Given the description of an element on the screen output the (x, y) to click on. 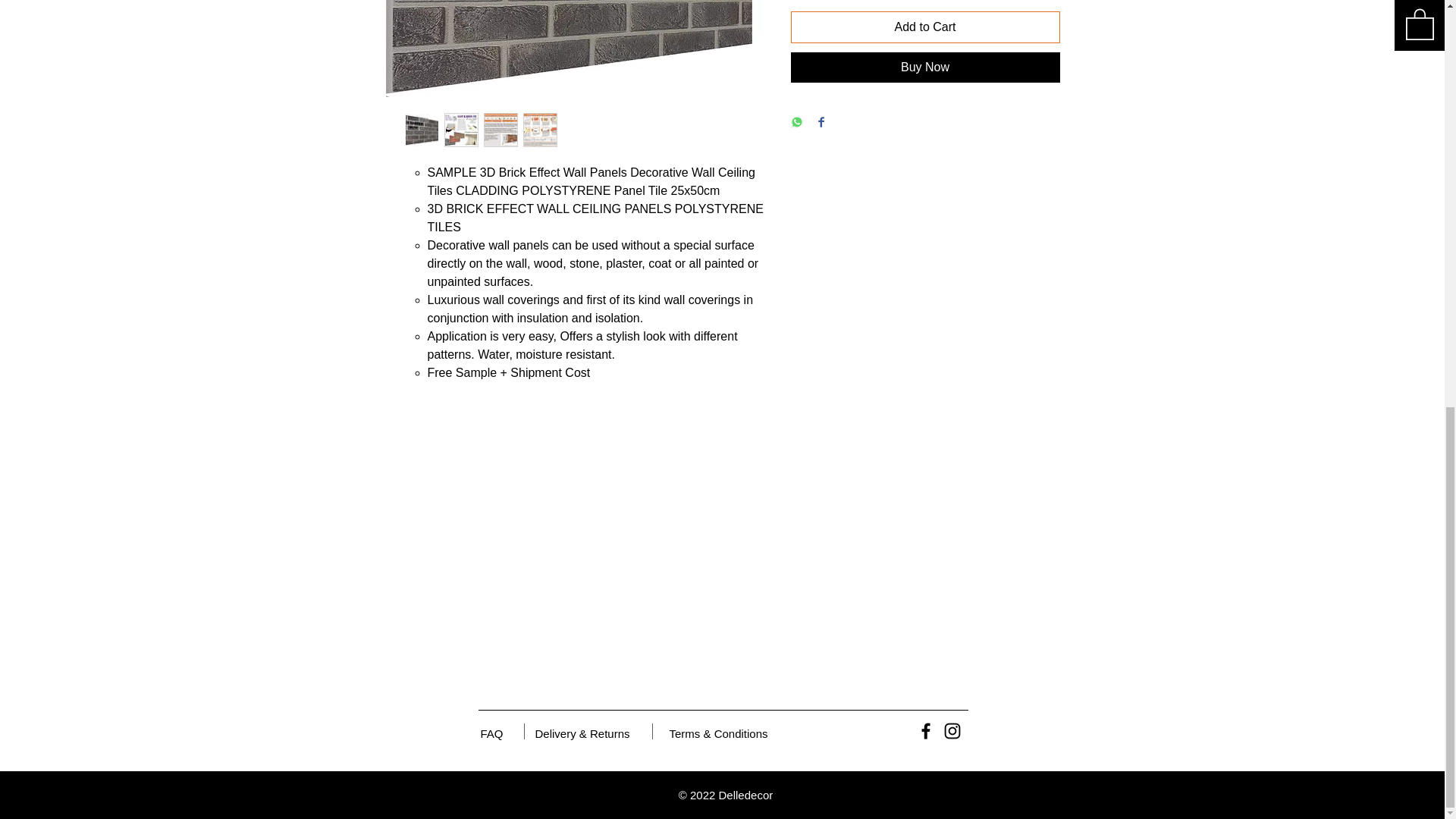
Buy Now (924, 67)
Add to Cart (924, 27)
FAQ (490, 732)
